Given the description of an element on the screen output the (x, y) to click on. 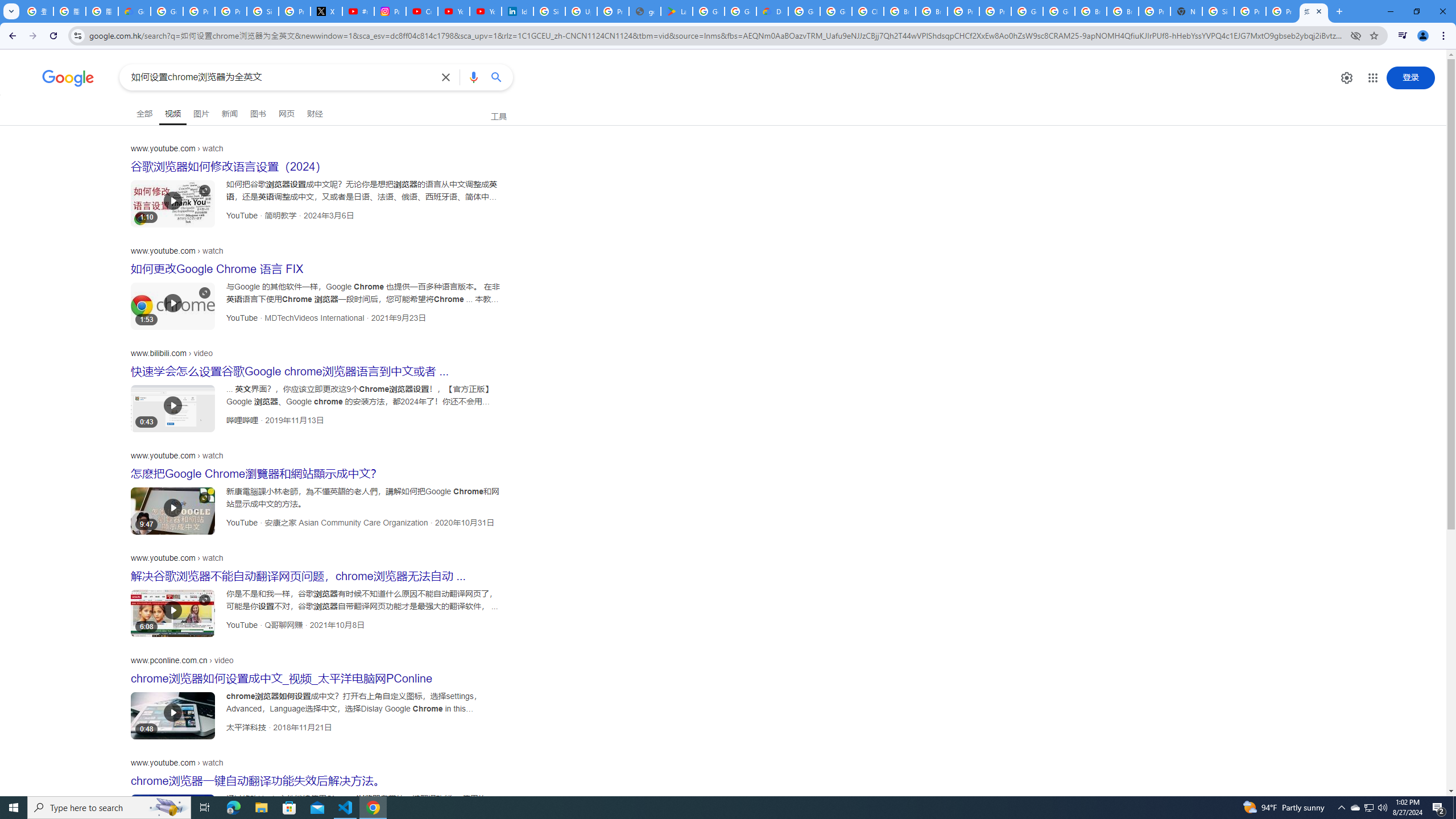
Sign in - Google Accounts (549, 11)
